Given the description of an element on the screen output the (x, y) to click on. 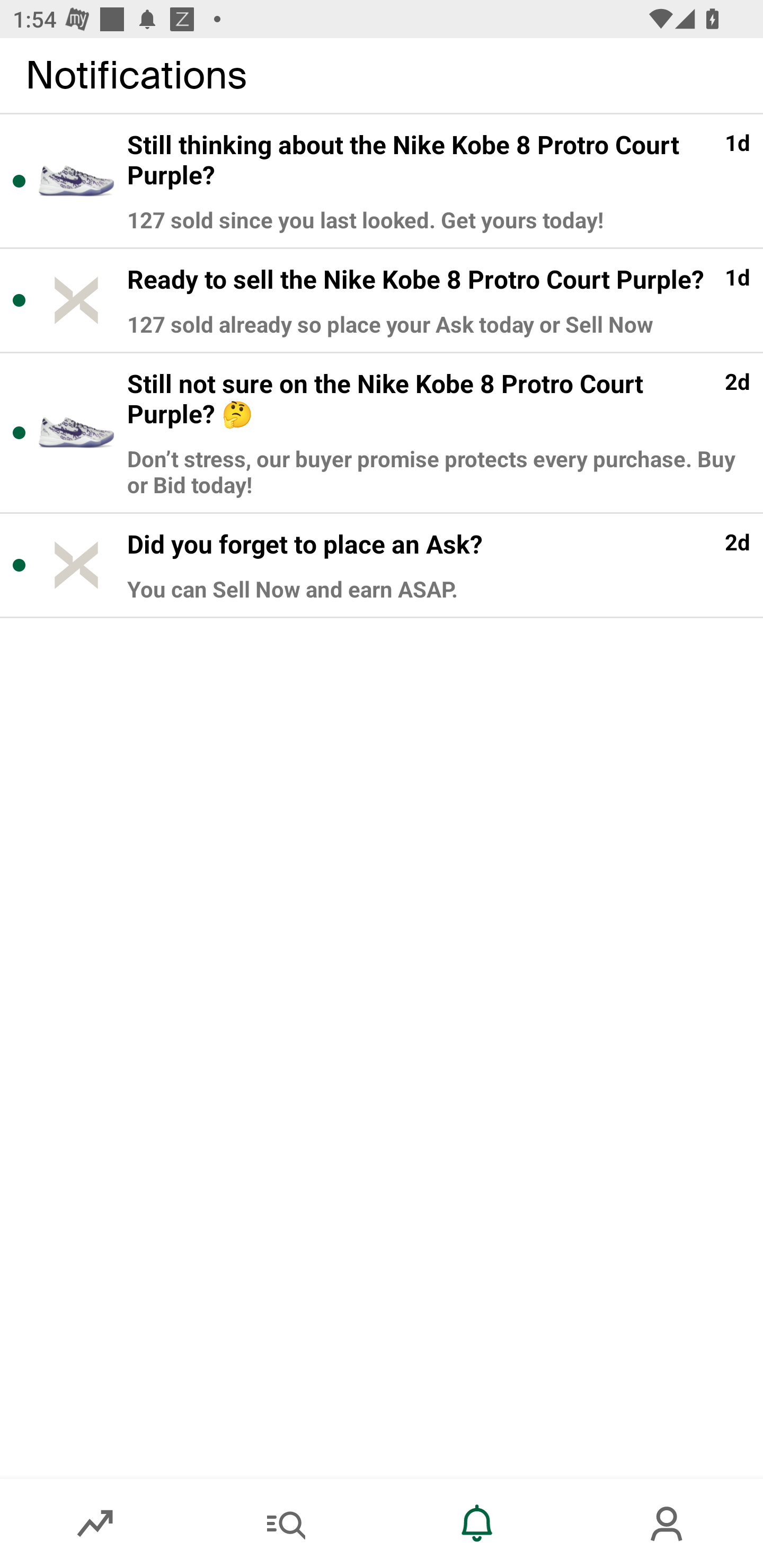
Market (95, 1523)
Search (285, 1523)
Account (667, 1523)
